Given the description of an element on the screen output the (x, y) to click on. 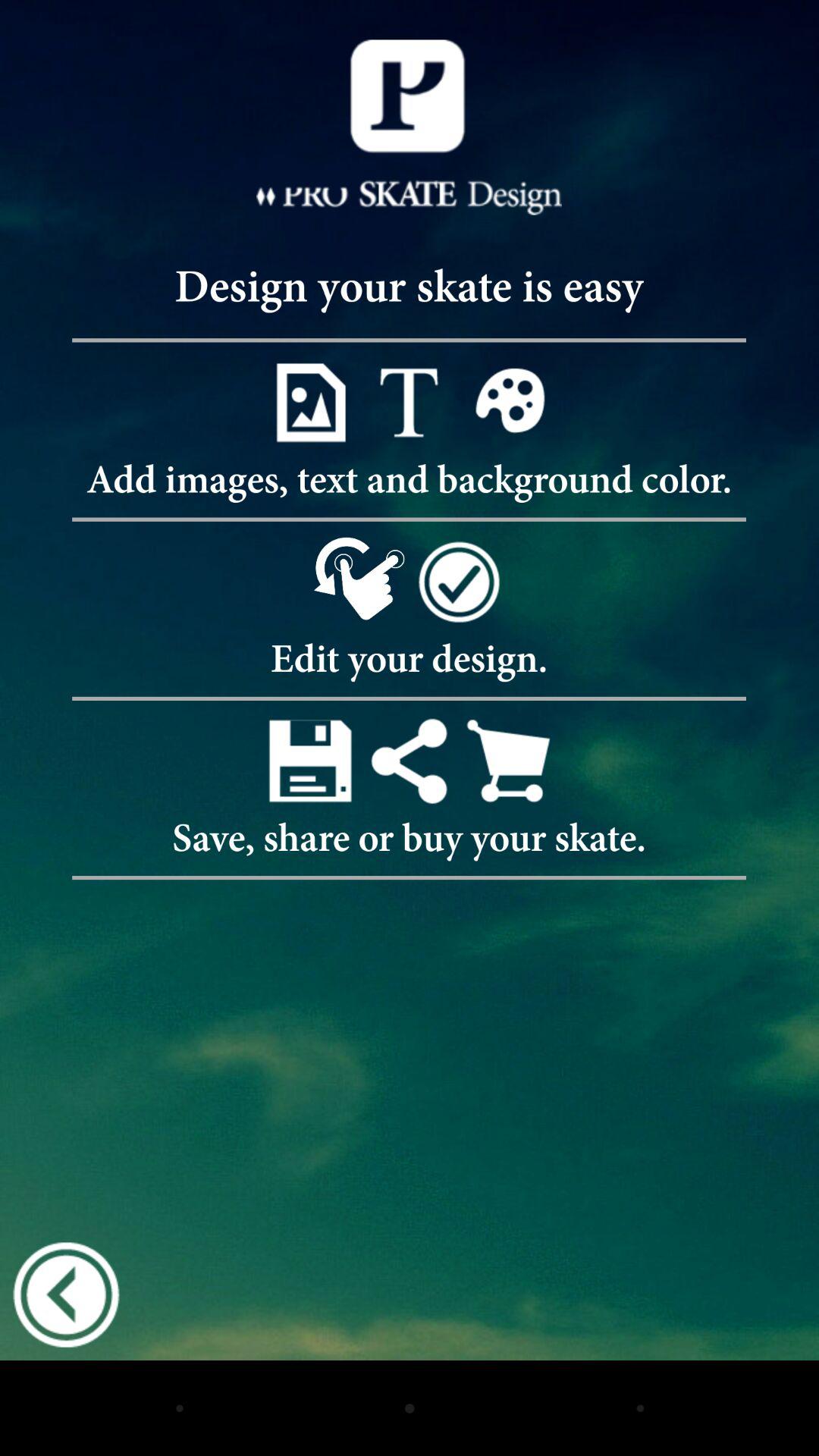
this button takes me back a page in the app (66, 1293)
